Given the description of an element on the screen output the (x, y) to click on. 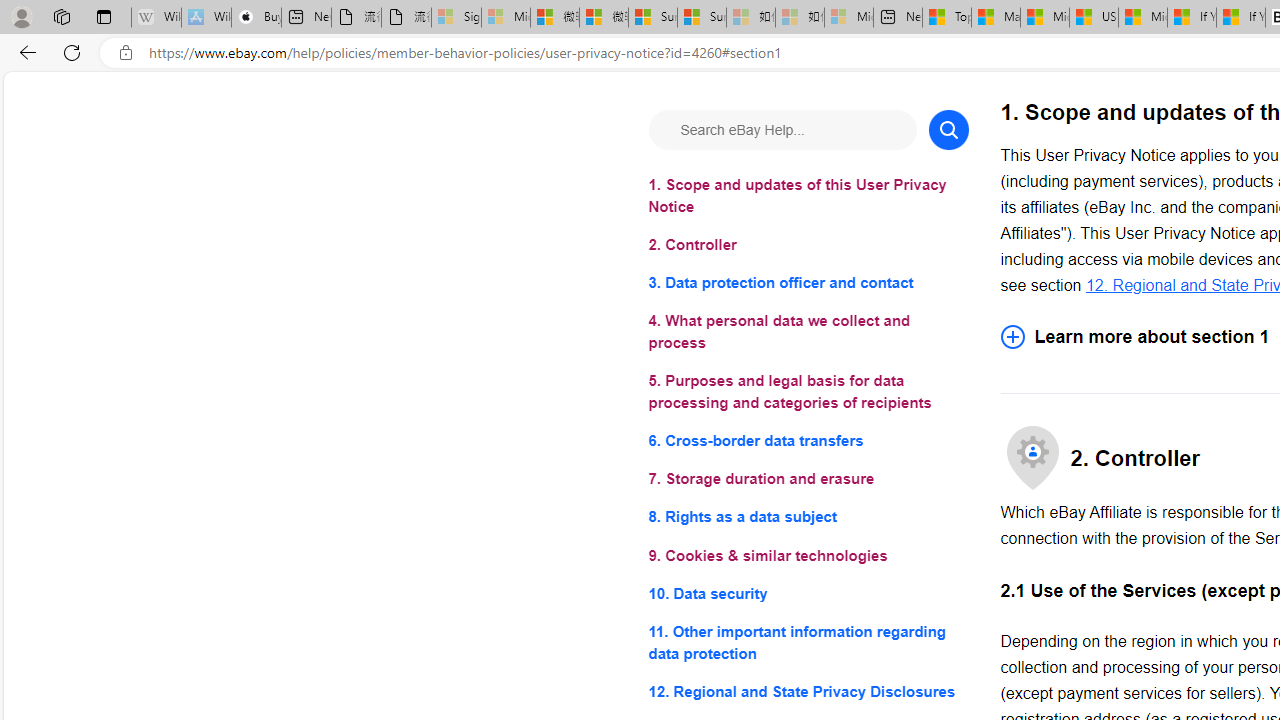
7. Storage duration and erasure (807, 479)
4. What personal data we collect and process (807, 332)
Microsoft Services Agreement - Sleeping (505, 17)
1. Scope and updates of this User Privacy Notice (807, 196)
Search eBay Help... (781, 129)
3. Data protection officer and contact (807, 283)
Sign in to your Microsoft account - Sleeping (456, 17)
Microsoft account | Account Checkup - Sleeping (848, 17)
